Given the description of an element on the screen output the (x, y) to click on. 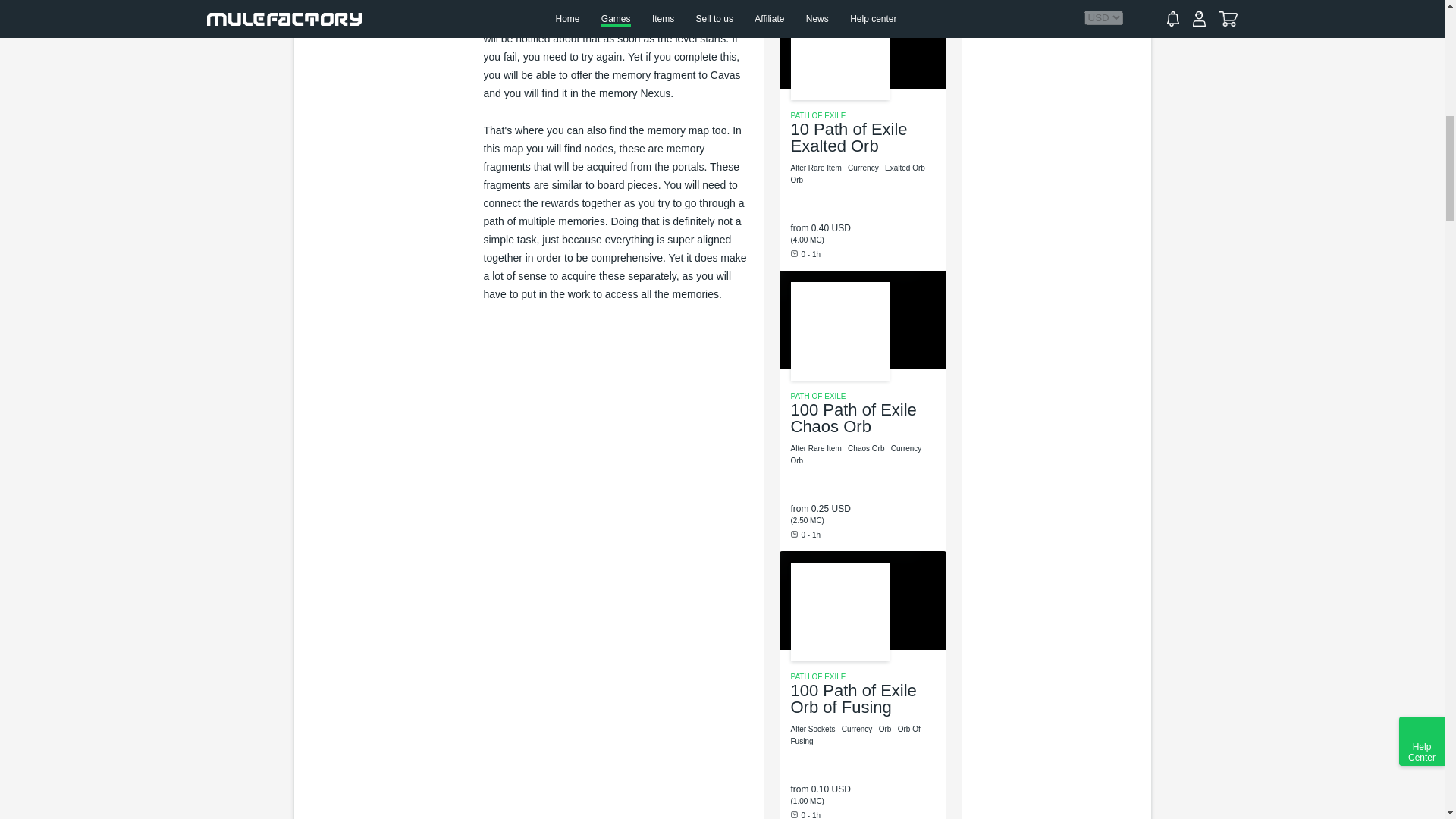
More items in Path of Exile Currency category (858, 728)
More items in Path of Exile Orb category (797, 460)
Orb (797, 180)
100 Path of Exile Chaos Orb (852, 417)
0.25 USD or 2.50 MC (830, 508)
More items in Path of Exile Orb Of Fusing category (855, 734)
Chaos Orb (866, 448)
More items in Path of Exile Chaos Orb category (866, 448)
Currency (863, 167)
More items in Path of Exile Exalted Orb category (906, 167)
